Given the description of an element on the screen output the (x, y) to click on. 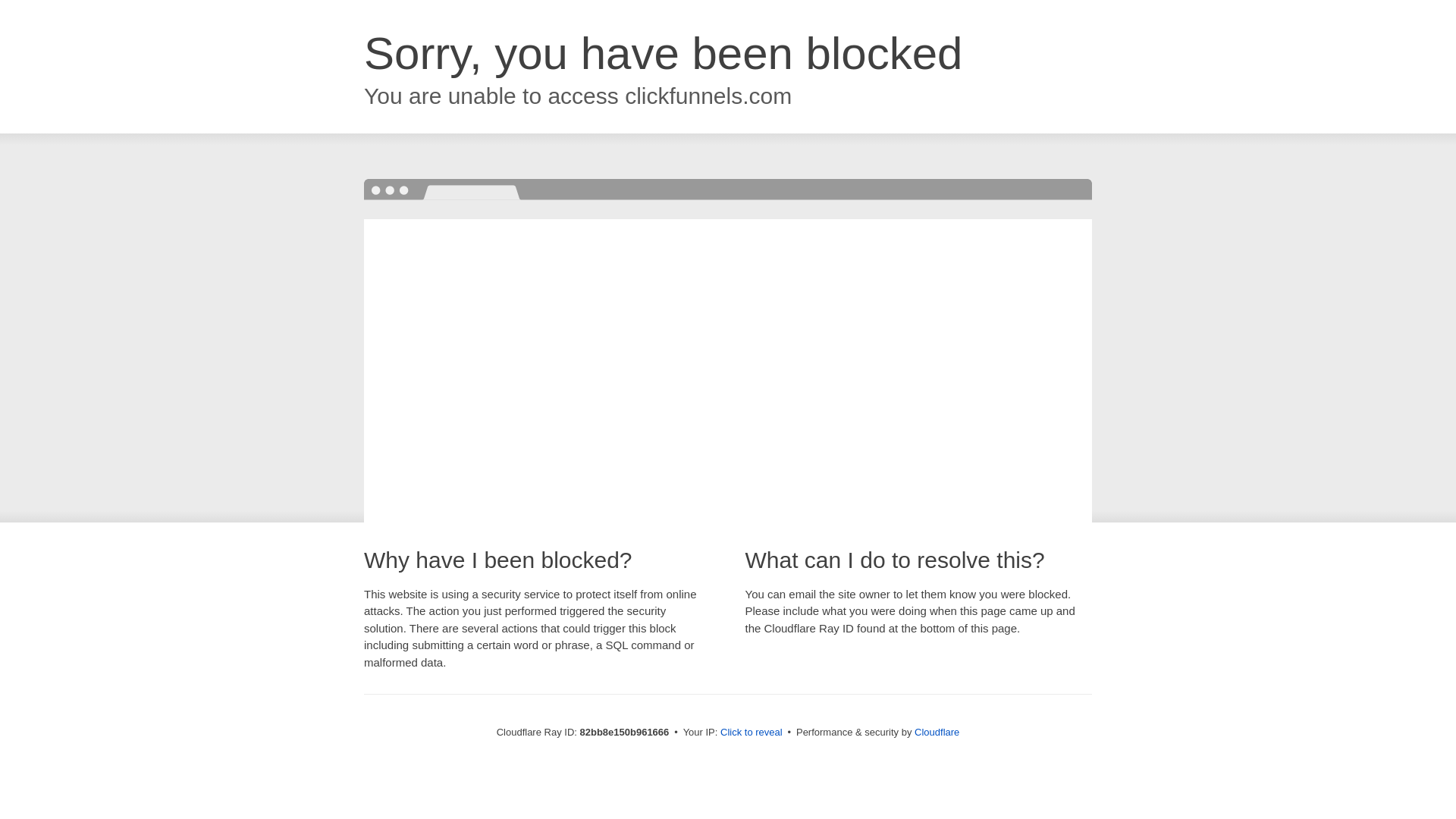
Cloudflare Element type: text (936, 731)
Click to reveal Element type: text (751, 732)
